Given the description of an element on the screen output the (x, y) to click on. 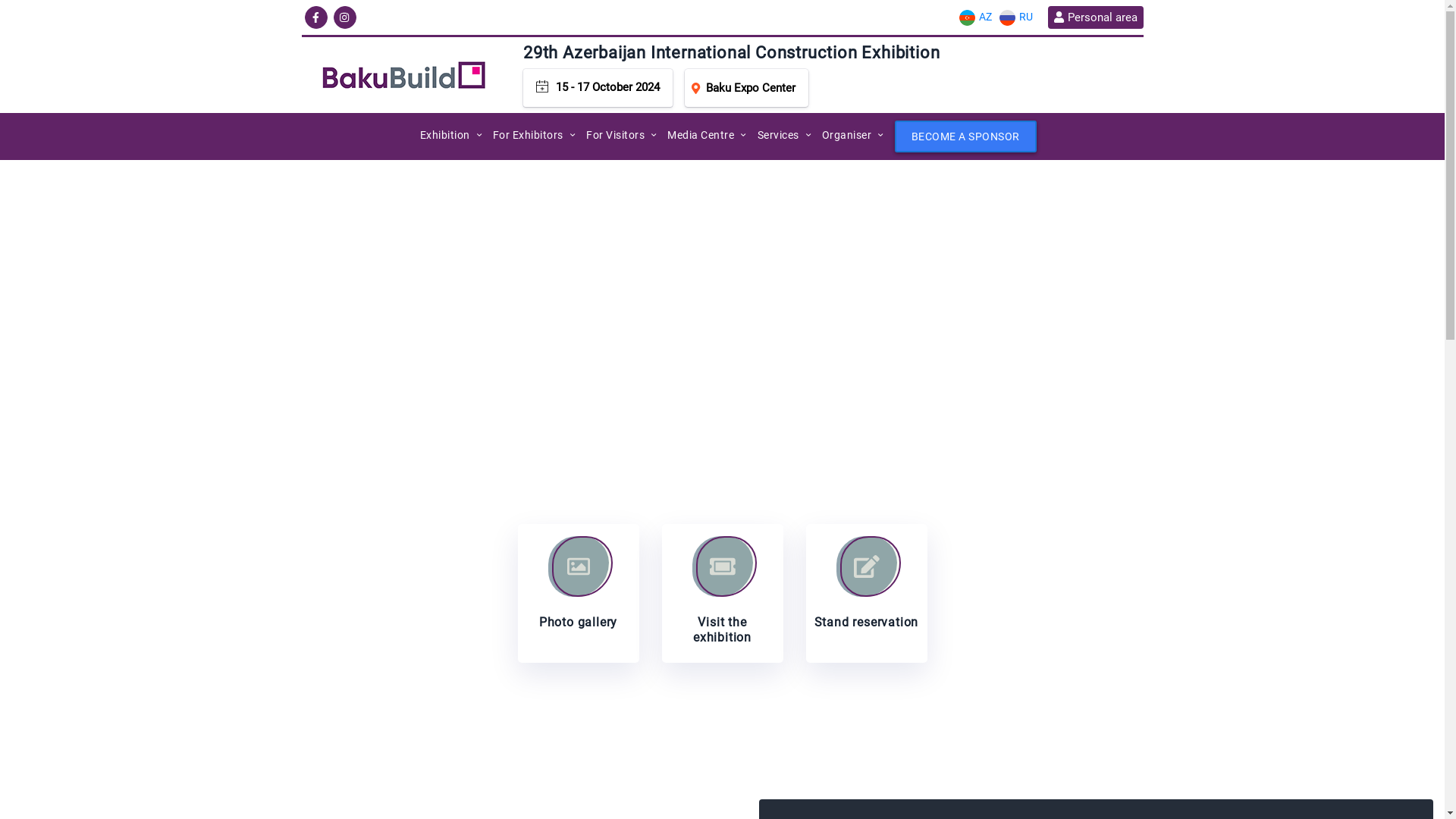
Organiser Element type: text (847, 134)
Stand reservation Element type: text (865, 593)
Media Centre Element type: text (700, 134)
Personal area Element type: text (1095, 17)
AZ Element type: text (974, 16)
Visit the exhibition Element type: text (721, 593)
For Visitors Element type: text (615, 134)
BECOME A SPONSOR Element type: text (965, 136)
Services Element type: text (777, 134)
Exhibition Element type: text (445, 134)
RU Element type: text (1014, 16)
For Exhibitors Element type: text (527, 134)
Baku Expo Center Element type: text (746, 87)
Photo gallery Element type: text (577, 593)
